Given the description of an element on the screen output the (x, y) to click on. 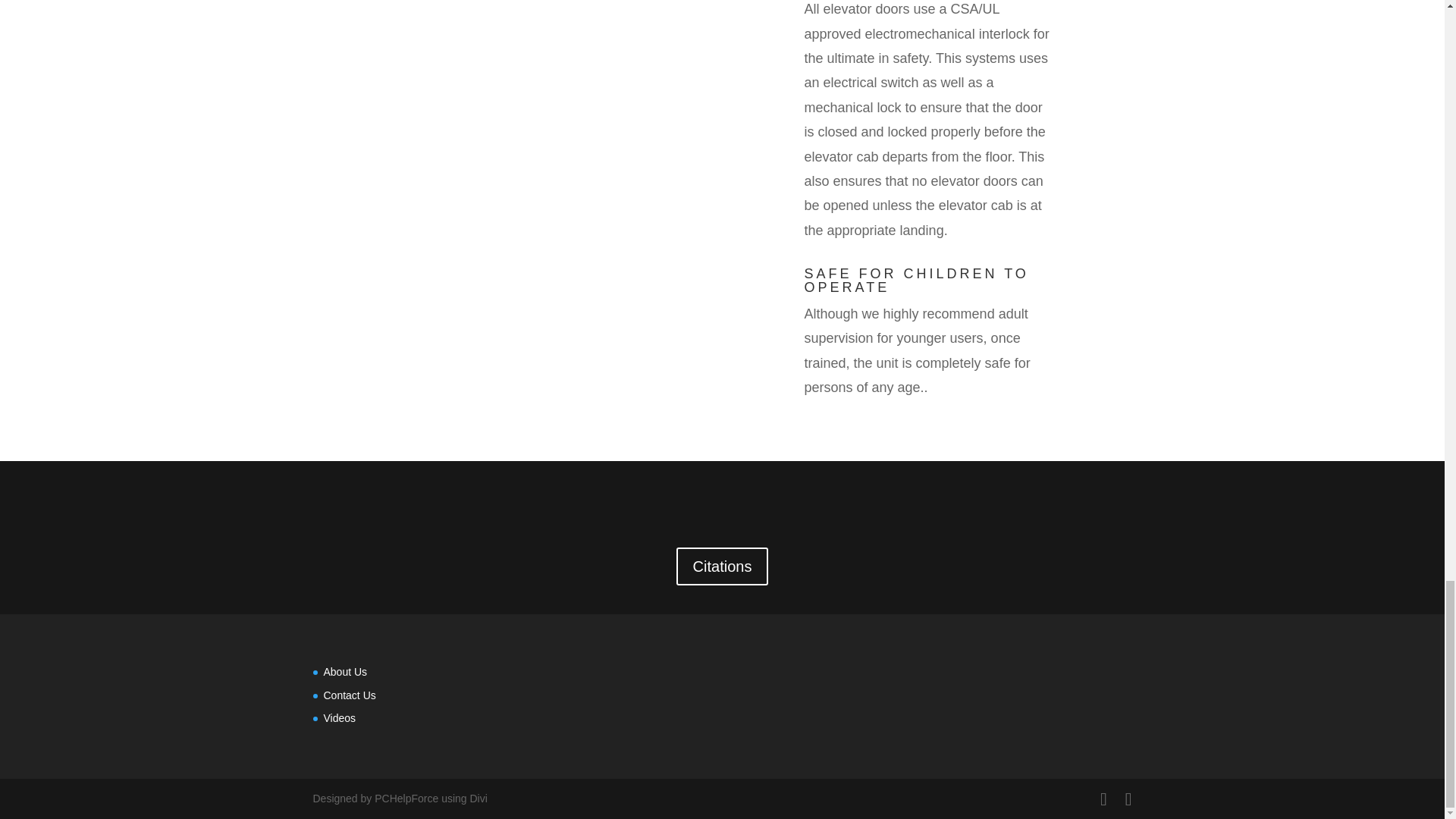
Videos (339, 717)
Contact Us (349, 695)
About Us (344, 671)
Citations (722, 566)
